Given the description of an element on the screen output the (x, y) to click on. 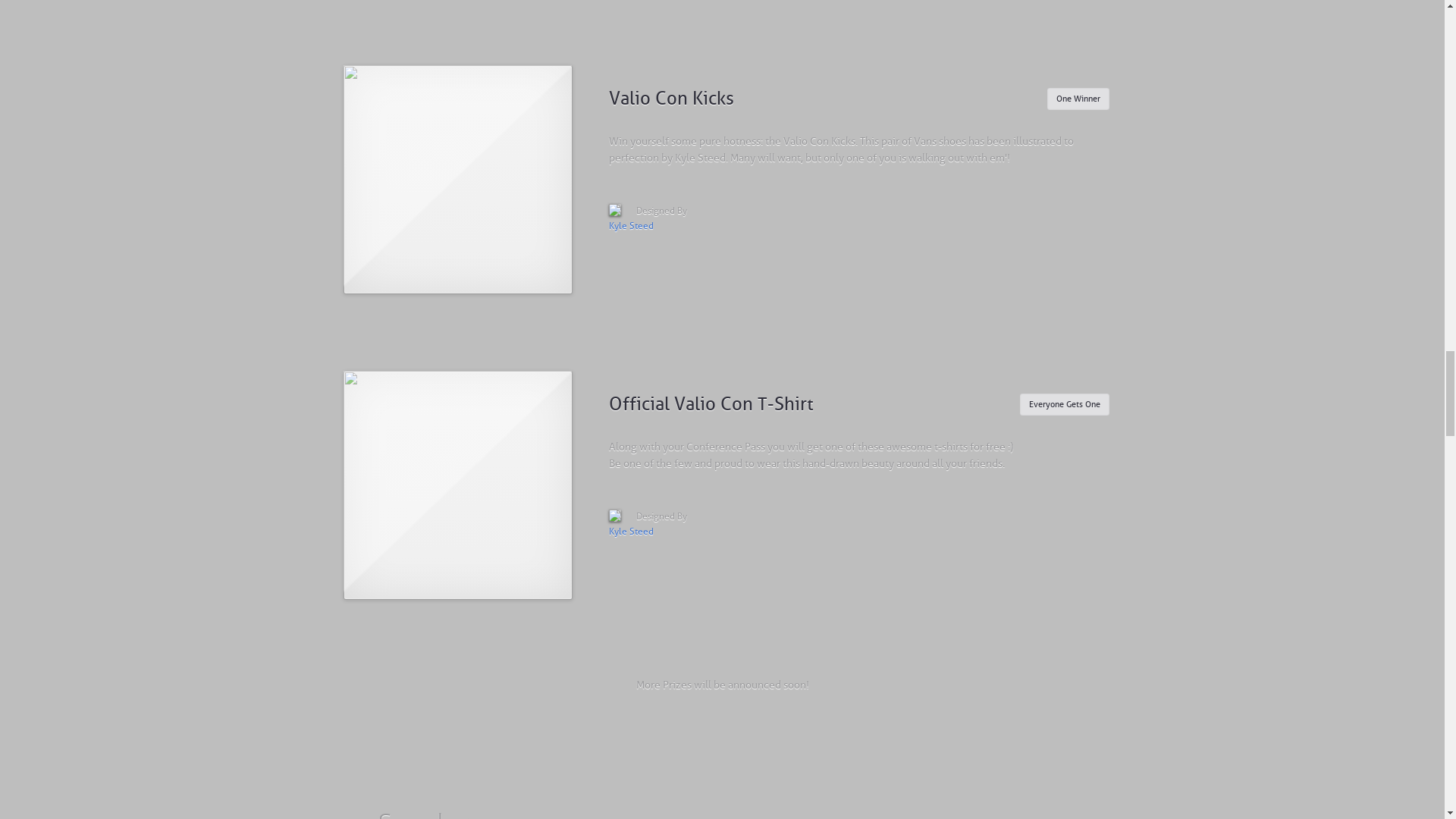
OFFICIAL TEE (456, 484)
VALIO CON KICKS (456, 179)
Kyle Steed (630, 531)
Kyle Steed (630, 225)
